Given the description of an element on the screen output the (x, y) to click on. 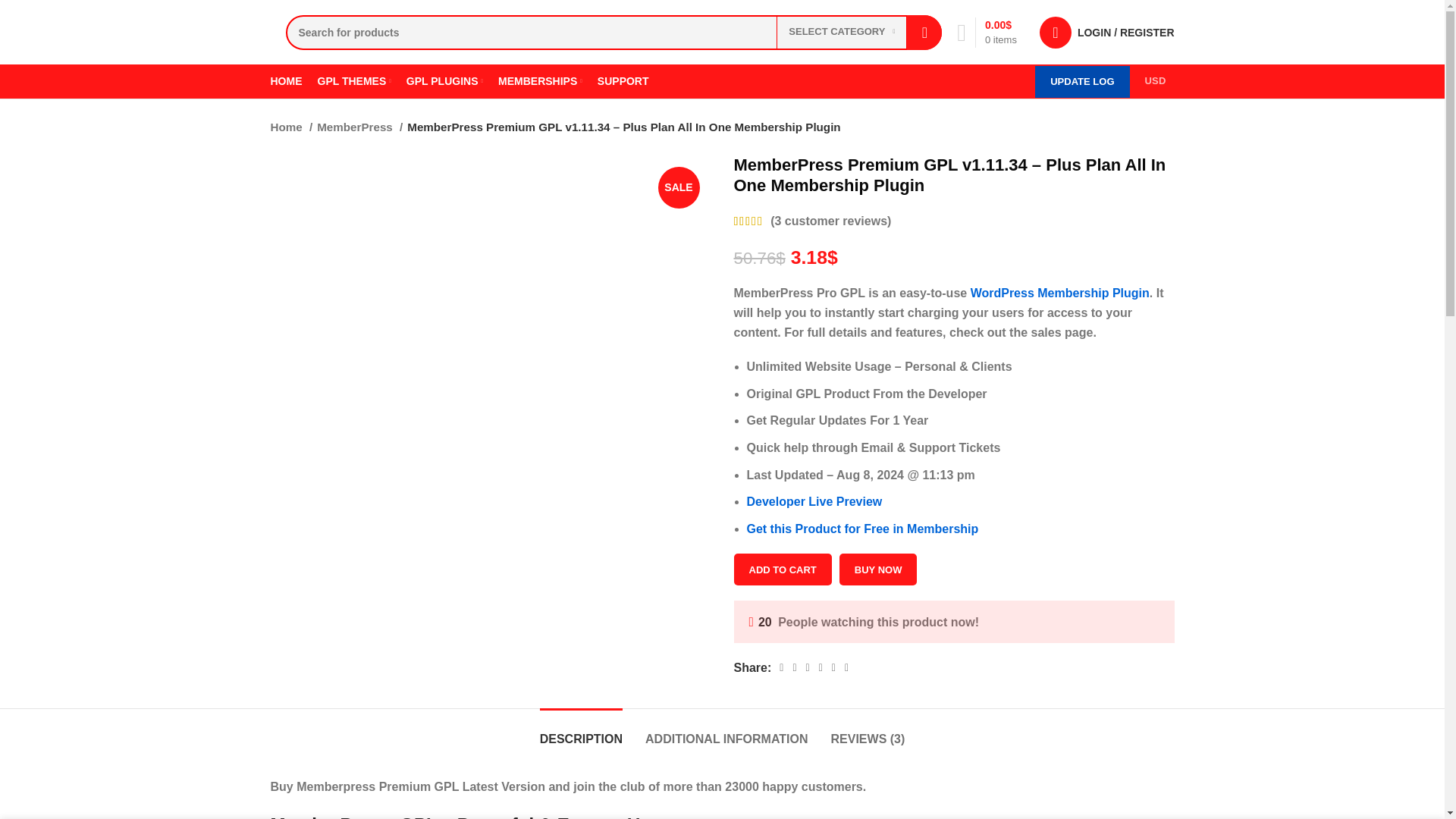
Search for products (613, 32)
Shopping cart (987, 31)
SELECT CATEGORY (841, 32)
SELECT CATEGORY (841, 32)
My account (1107, 31)
